Given the description of an element on the screen output the (x, y) to click on. 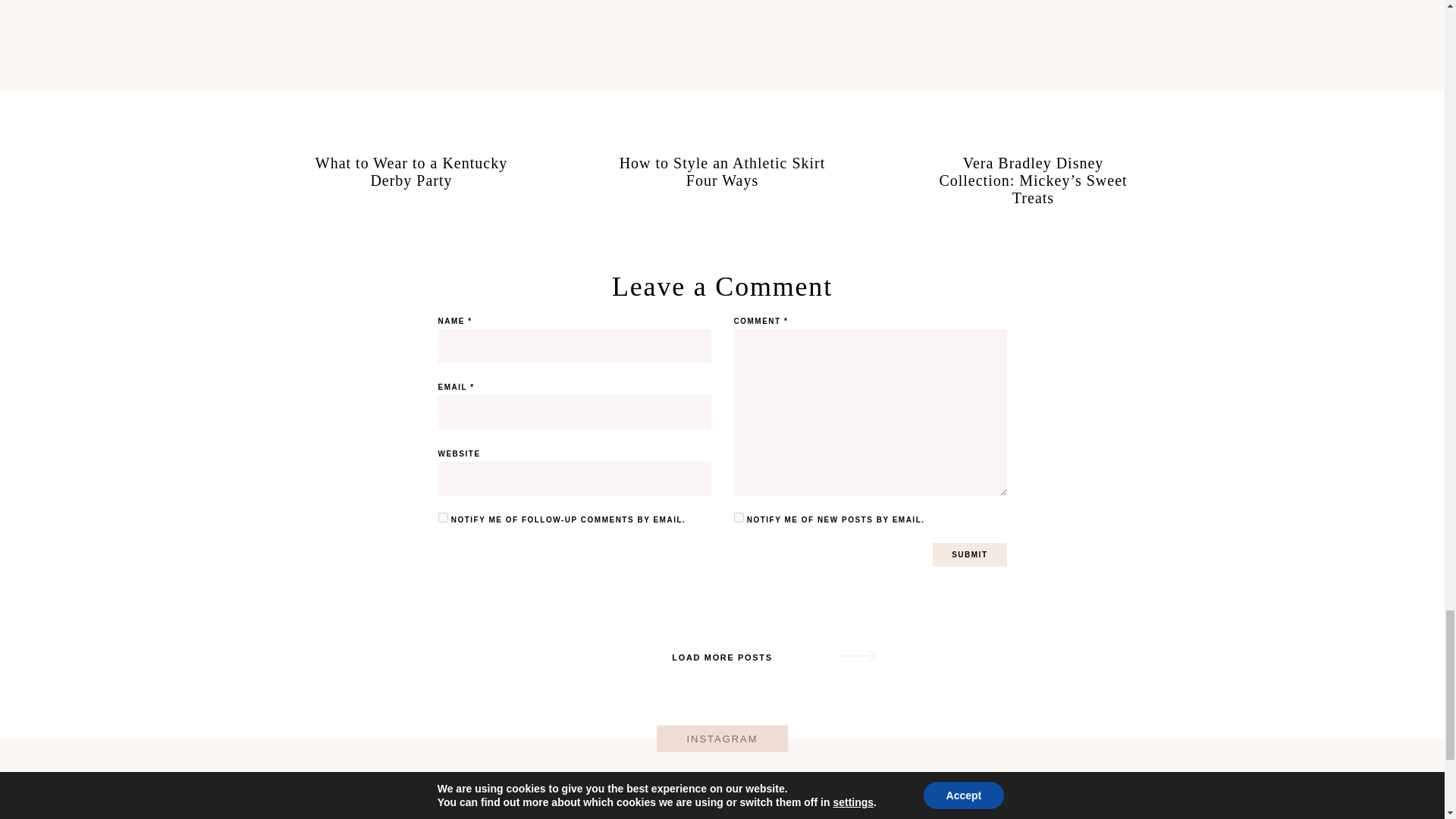
subscribe (738, 517)
subscribe (443, 517)
Submit (969, 554)
